Given the description of an element on the screen output the (x, y) to click on. 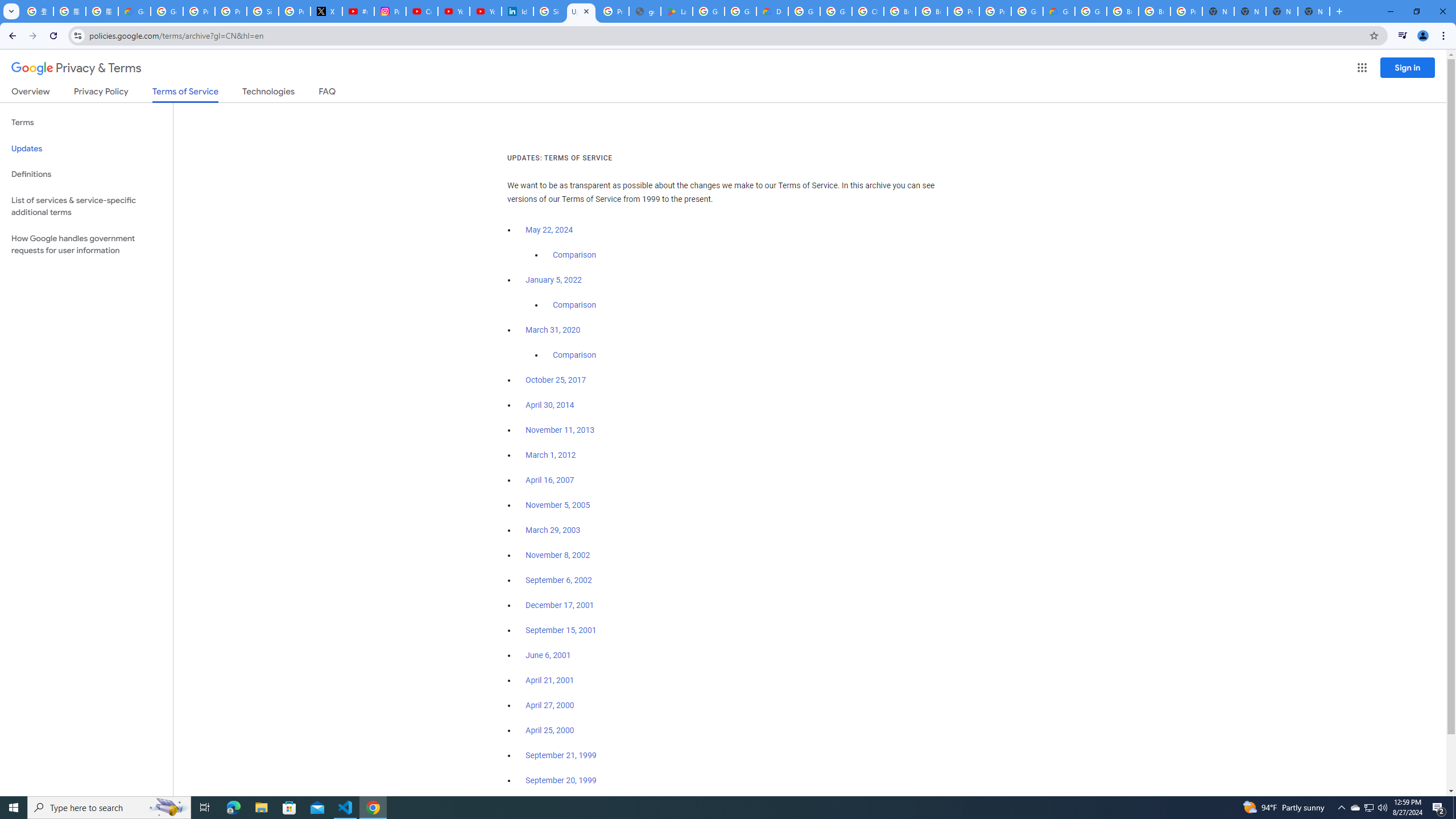
Google Cloud Estimate Summary (1059, 11)
April 25, 2000 (550, 729)
October 25, 2017 (555, 380)
Browse Chrome as a guest - Computer - Google Chrome Help (899, 11)
April 21, 2001 (550, 679)
September 21, 1999 (560, 755)
X (326, 11)
March 29, 2003 (552, 530)
January 5, 2022 (553, 280)
Privacy Help Center - Policies Help (230, 11)
